Given the description of an element on the screen output the (x, y) to click on. 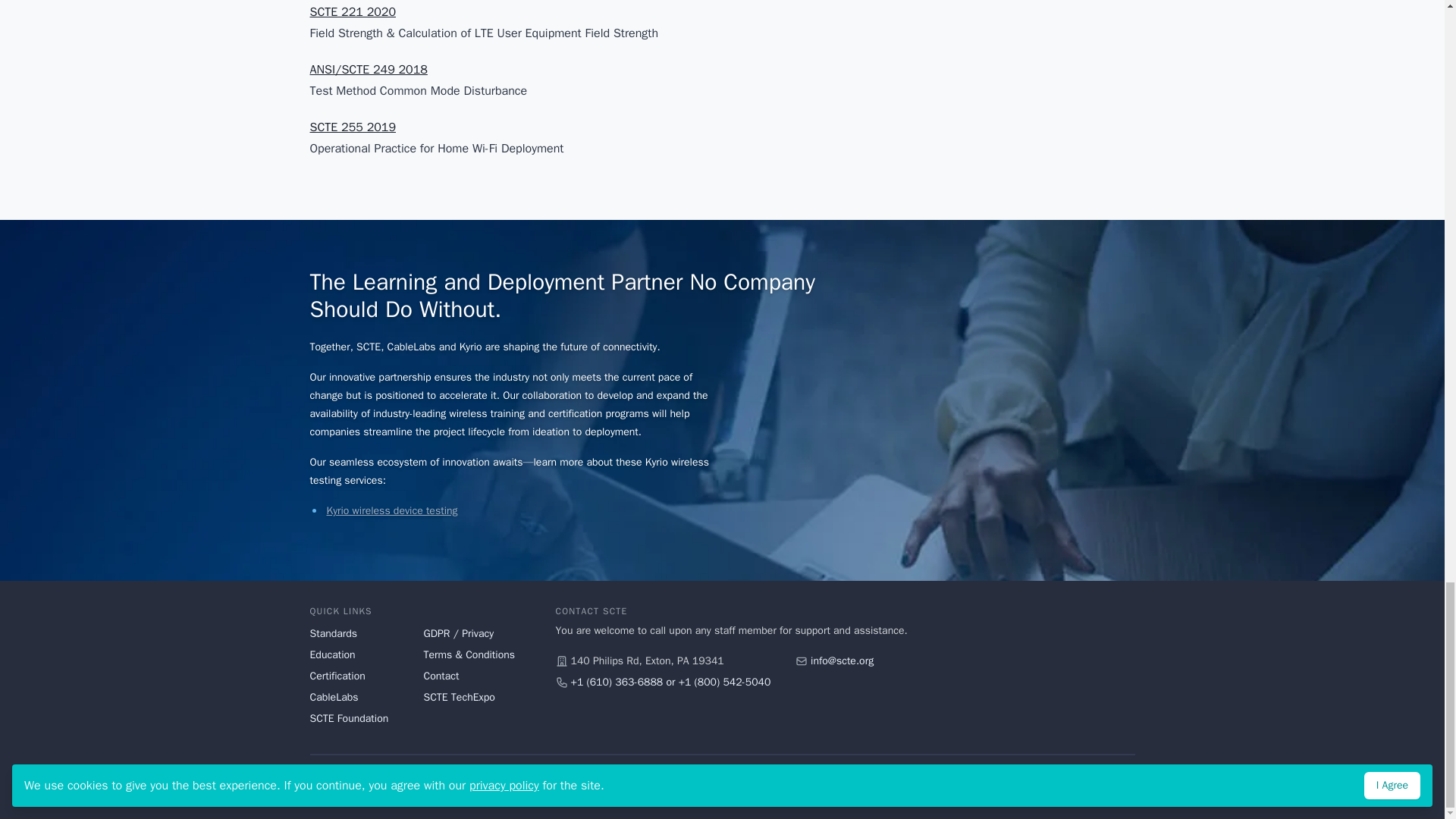
Facebook (1044, 786)
Twitter (1099, 786)
LinkedIn (1126, 786)
YouTube (1072, 787)
